Given the description of an element on the screen output the (x, y) to click on. 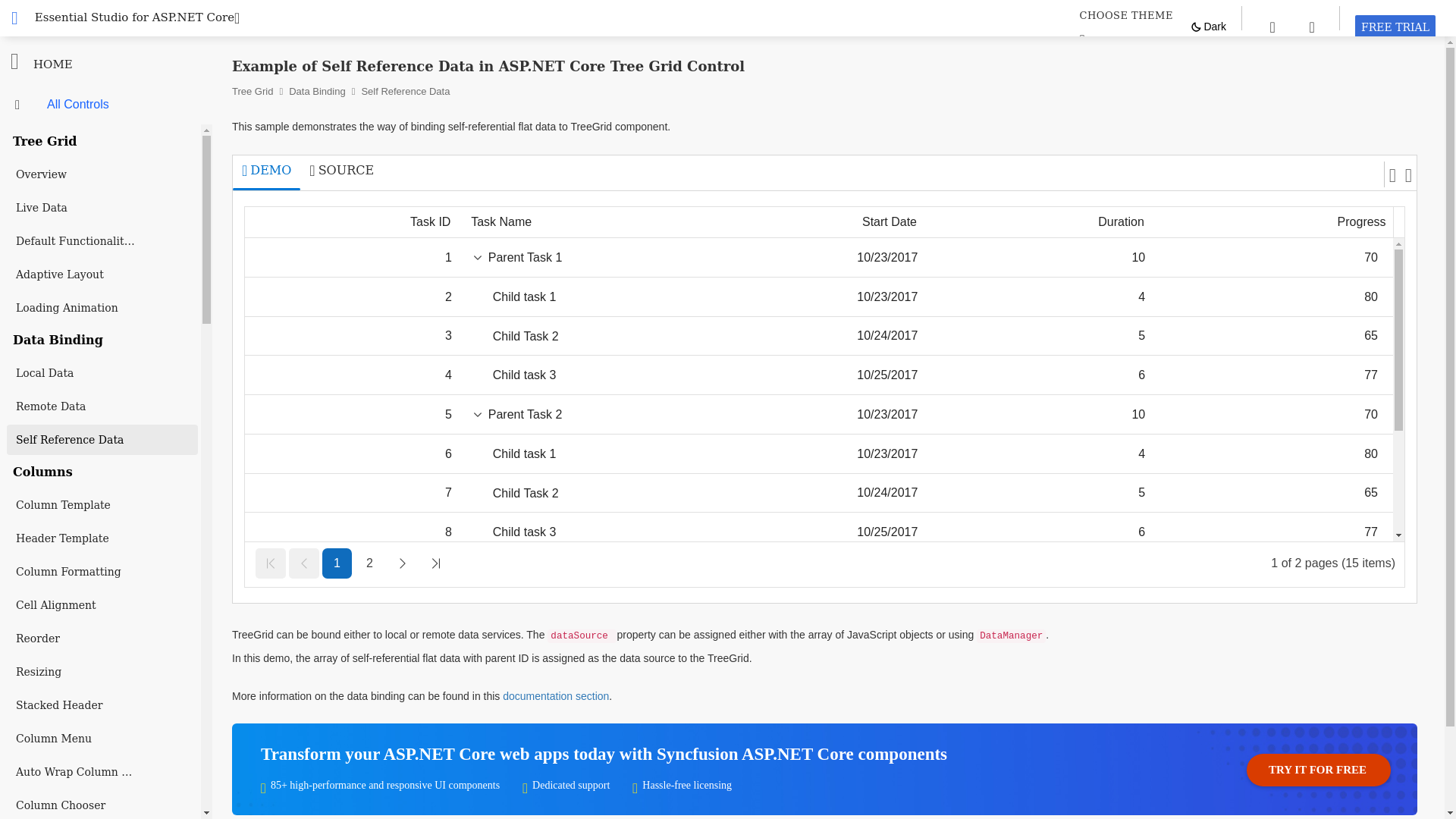
Go to last page (435, 562)
Go to next page (402, 562)
documentation section (555, 695)
Toggle sample search (1272, 26)
1 (336, 562)
Go to previous page (303, 562)
Change theme of sample browser (1395, 27)
2 (1125, 15)
FREE TRIAL (369, 562)
Go to first page (1395, 27)
